Given the description of an element on the screen output the (x, y) to click on. 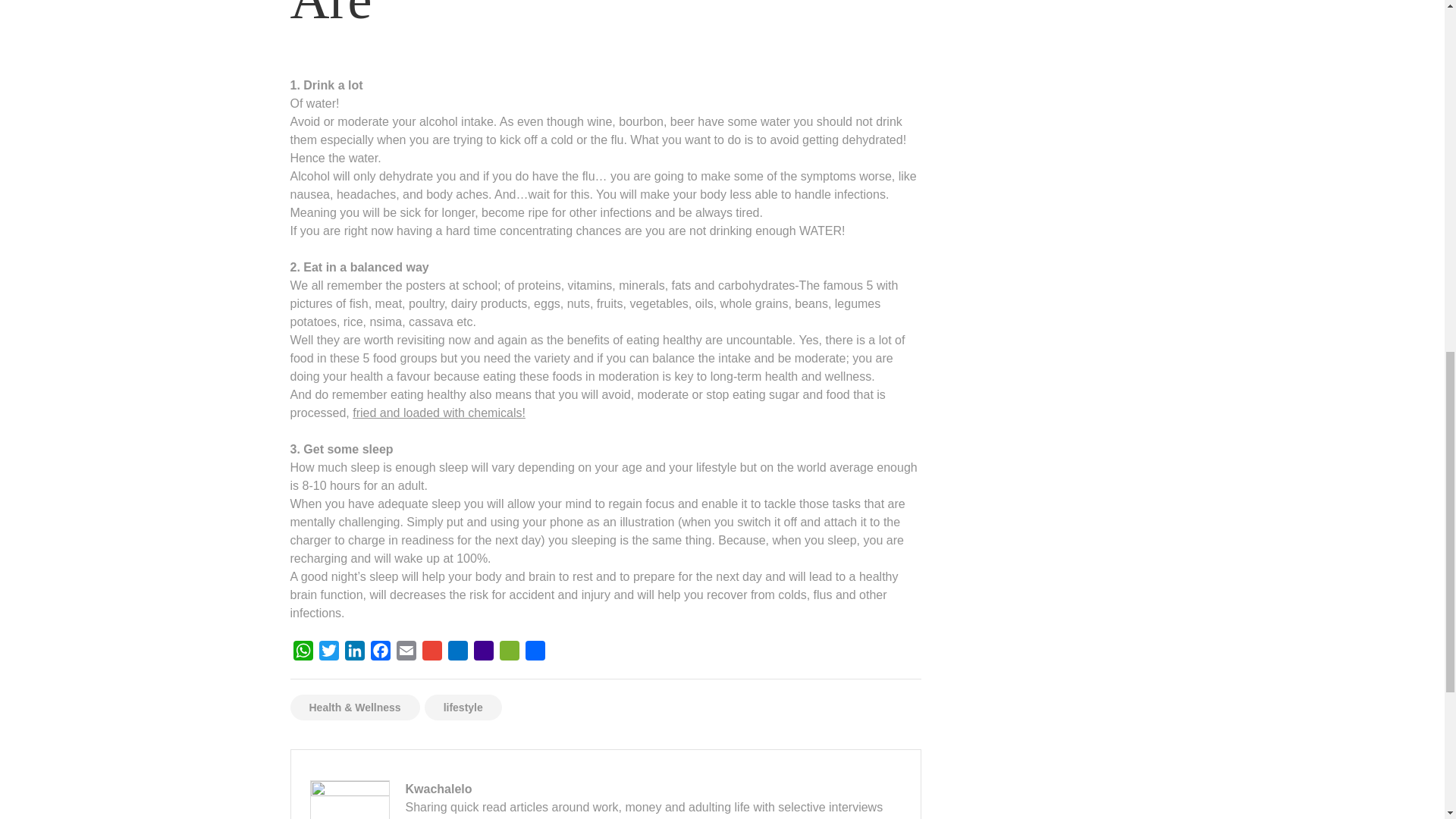
Email (406, 653)
fried and loaded with chemicals! (438, 412)
Facebook (379, 653)
Gmail (431, 653)
Outlook.com (457, 653)
Twitter (327, 653)
Gmail (431, 653)
WhatsApp (302, 653)
WeChat (508, 653)
WeChat (508, 653)
